Given the description of an element on the screen output the (x, y) to click on. 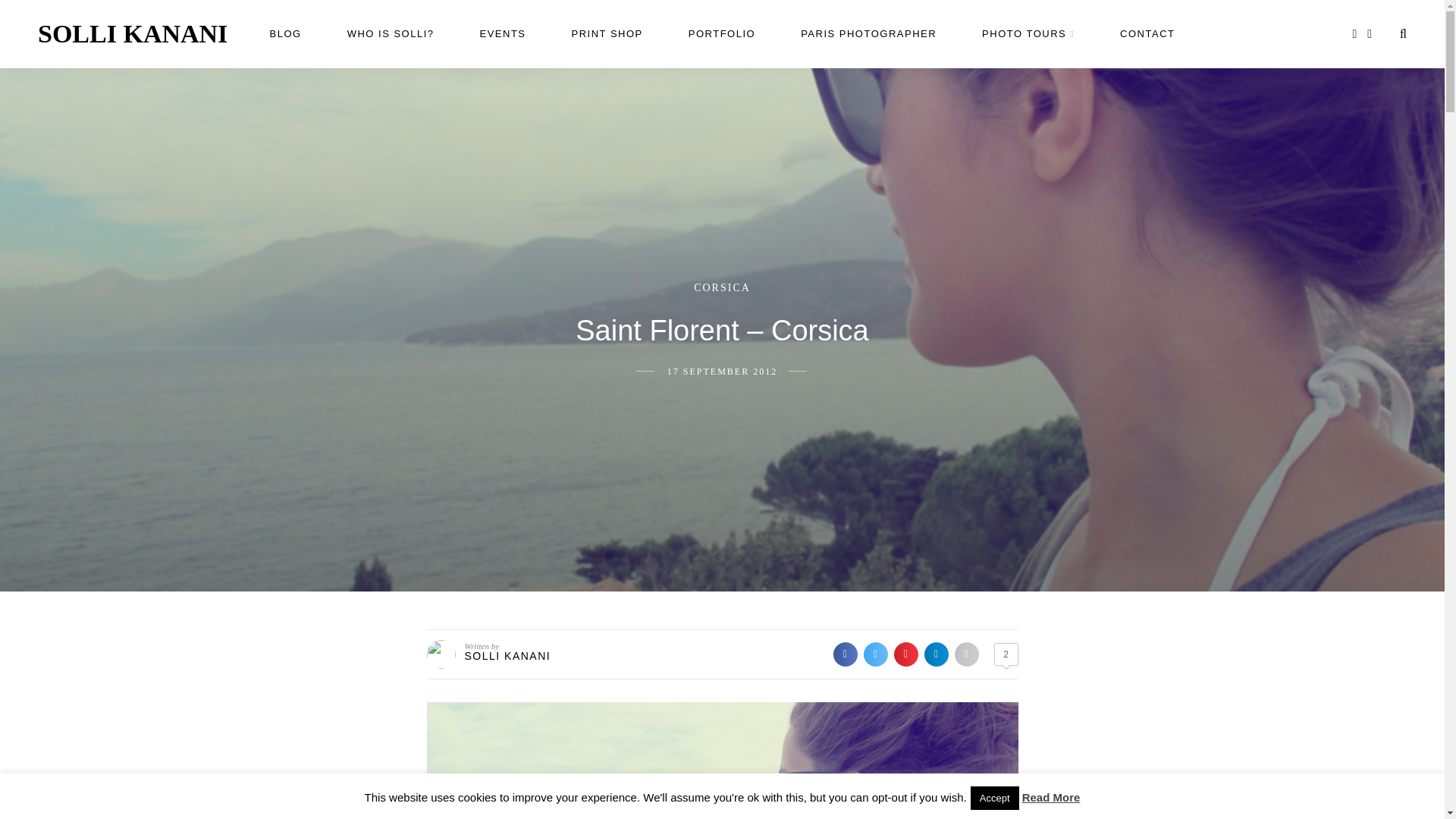
17 SEPTEMBER 2012 (721, 371)
PARIS PHOTOGRAPHER (868, 33)
CORSICA (722, 287)
PHOTO TOURS (1027, 33)
SOLLI KANANI (132, 33)
PORTFOLIO (721, 33)
Posts by Solli Kanani (507, 655)
WHO IS SOLLI? (390, 33)
PRINT SHOP (607, 33)
Saint-Florent, Corsica (721, 760)
SOLLI KANANI (507, 655)
